Given the description of an element on the screen output the (x, y) to click on. 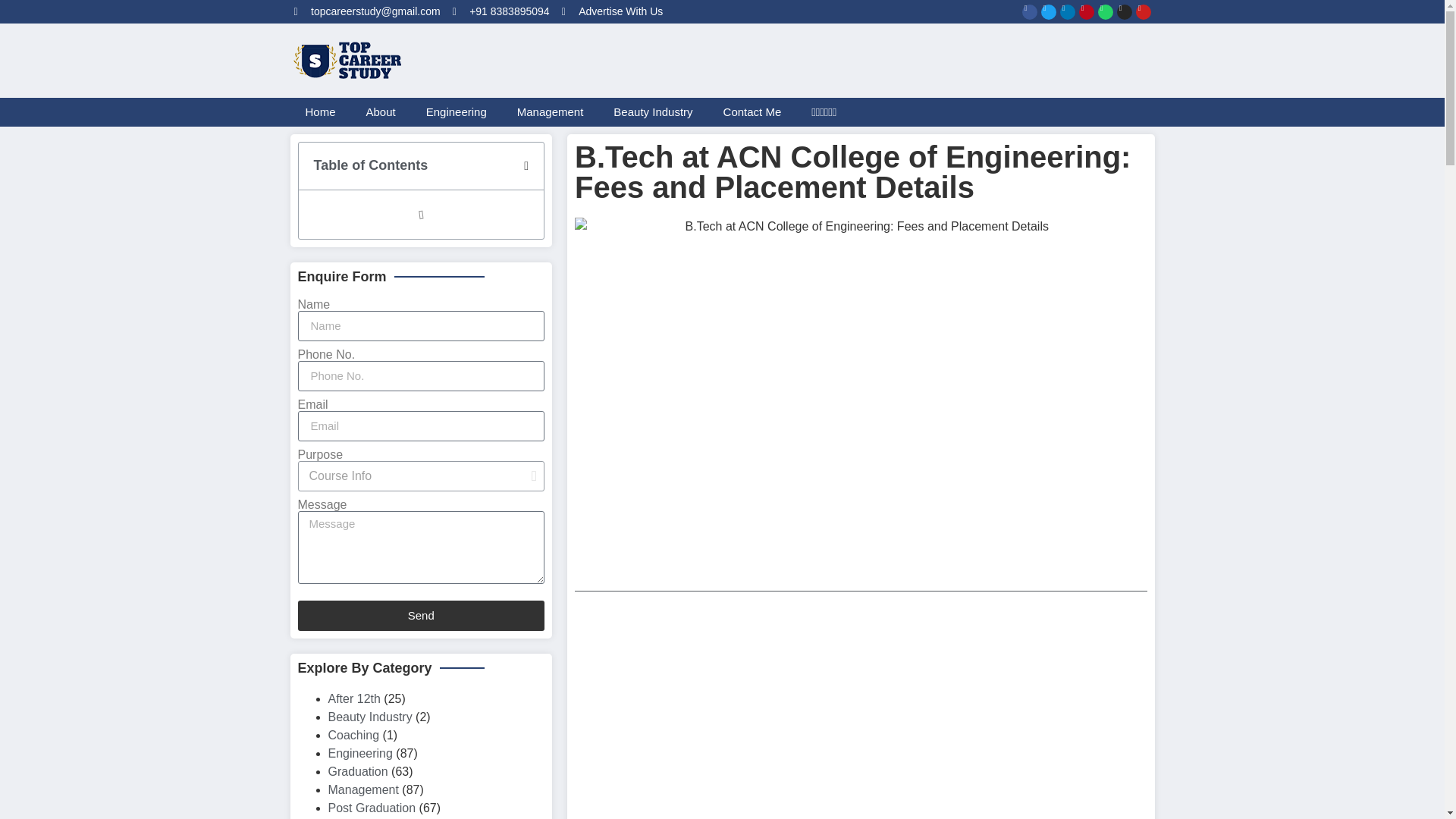
Engineering (456, 111)
Contact Me (751, 111)
Advertise With Us (612, 11)
Send (420, 615)
About (380, 111)
Management (550, 111)
Beauty Industry (652, 111)
Home (319, 111)
